Given the description of an element on the screen output the (x, y) to click on. 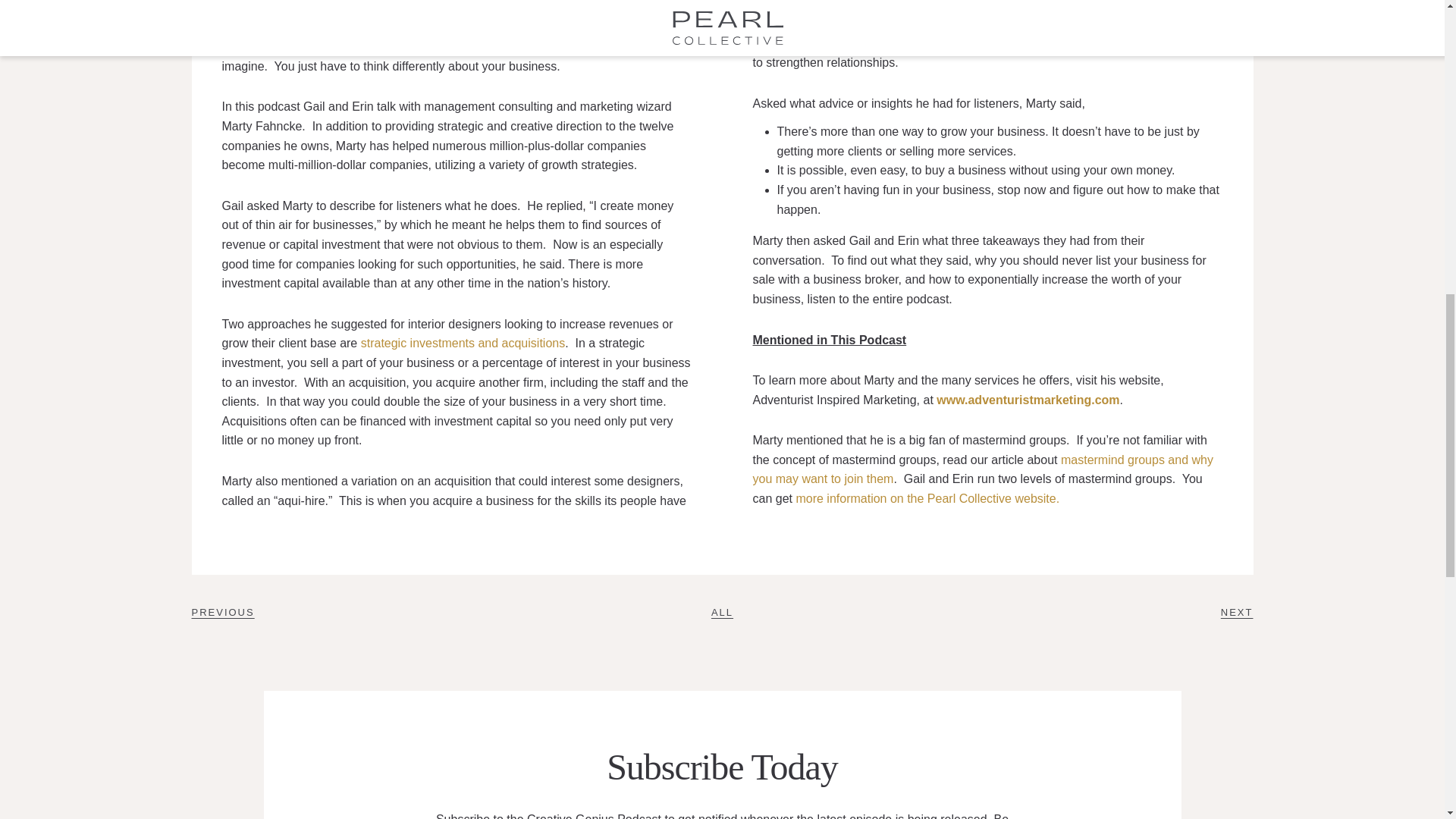
Play in new window (348, 8)
PLAY IN NEW WINDOW (348, 8)
strategic investments and acquisitions (462, 342)
NEXT (1237, 612)
Download (460, 8)
DOWNLOAD (460, 8)
more information on the Pearl Collective website. (926, 498)
www.adventuristmarketing.com (1027, 399)
ALL (722, 612)
PREVIOUS (221, 612)
mastermind groups and why you may want to join them (982, 469)
